Given the description of an element on the screen output the (x, y) to click on. 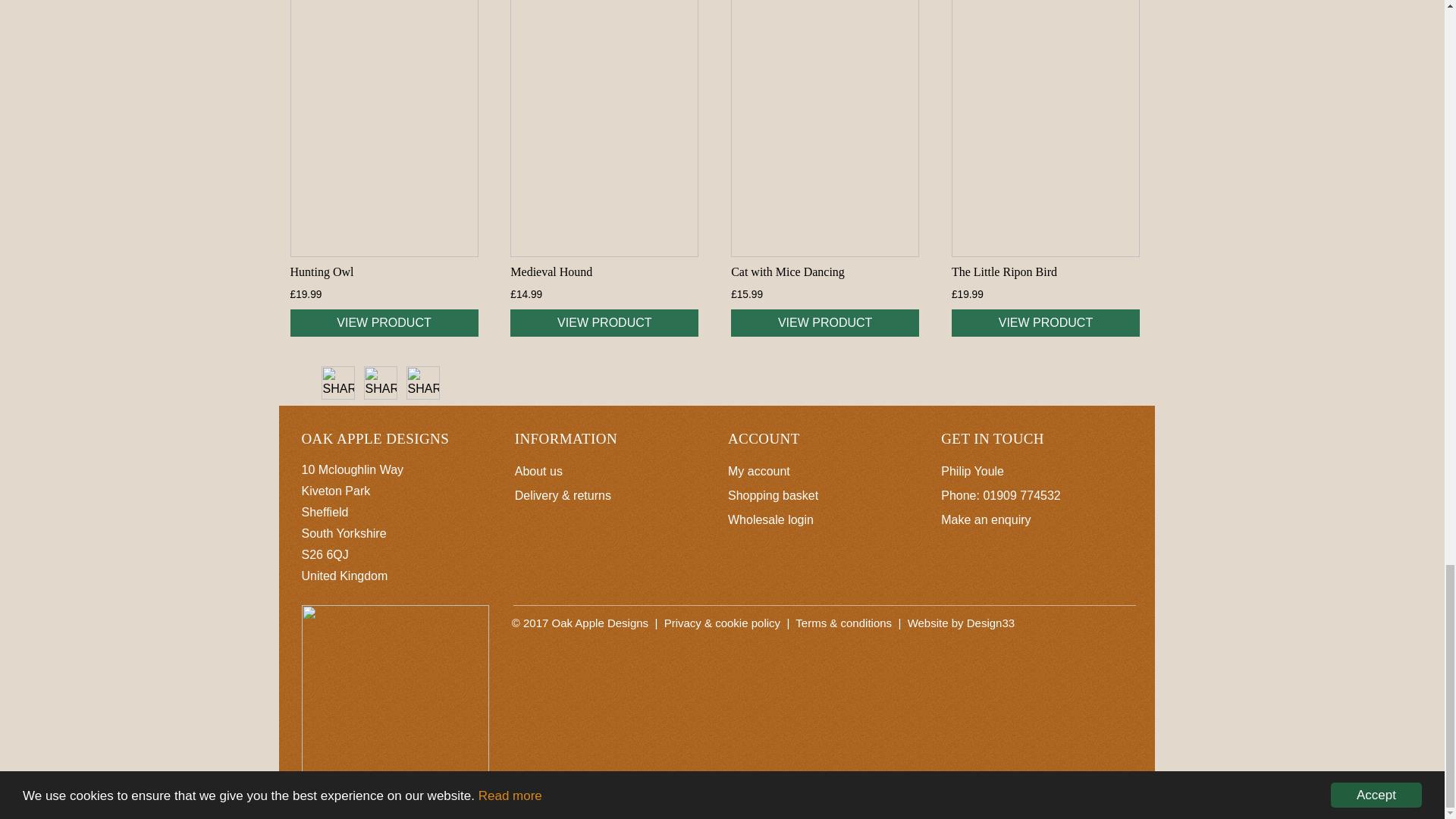
VIEW PRODUCT (383, 322)
